Given the description of an element on the screen output the (x, y) to click on. 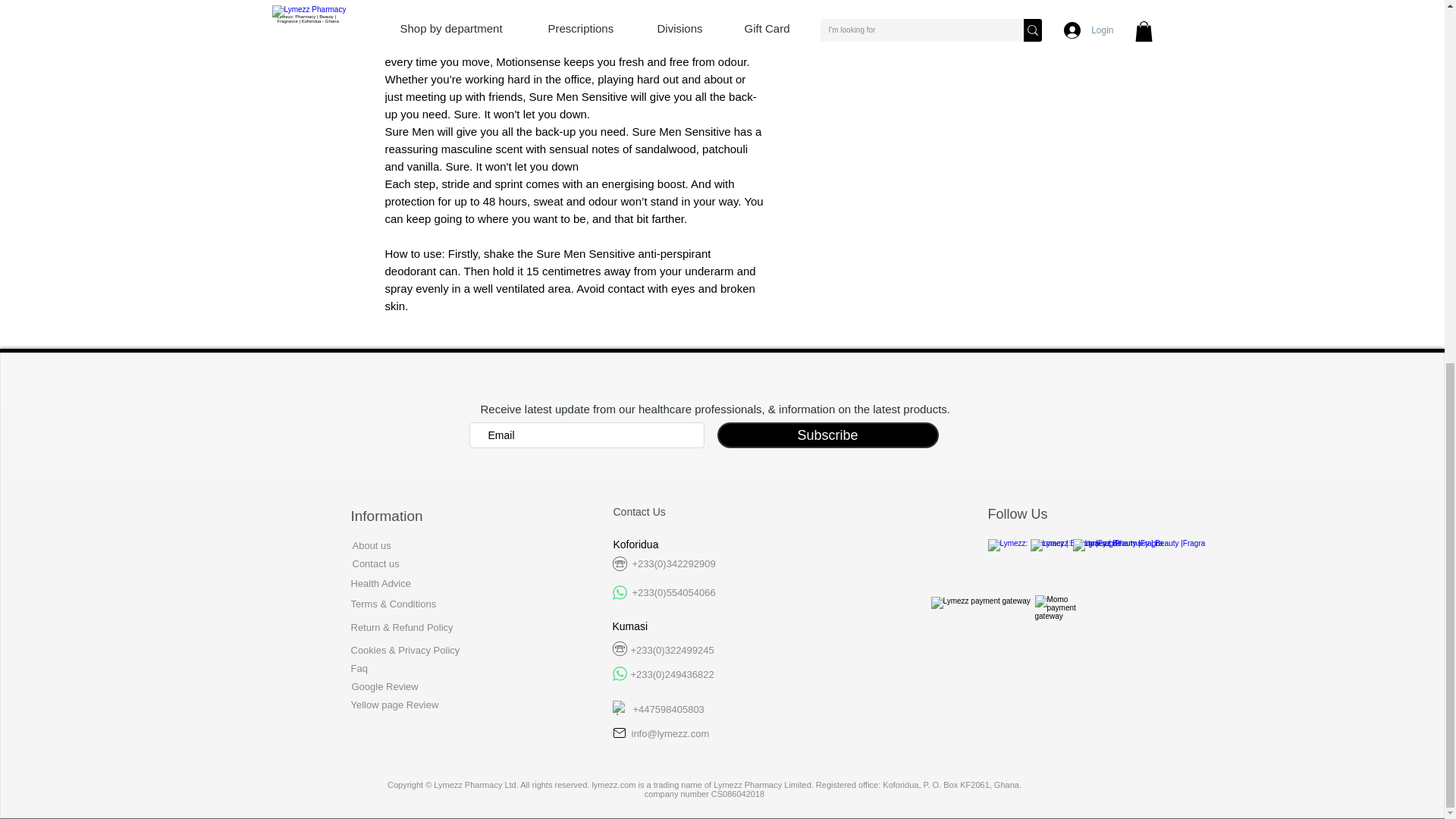
Ghana-payment-methods-mtn-airtel-tigo-visa-mastercard.png (1061, 613)
Contact us (375, 563)
Contact Us (638, 511)
Vista-Mastercard.png (983, 615)
About us (371, 545)
Yellow page Review (394, 704)
Faq (358, 668)
Health Advice  (381, 583)
Subscribe (828, 434)
Google Review (385, 686)
